Given the description of an element on the screen output the (x, y) to click on. 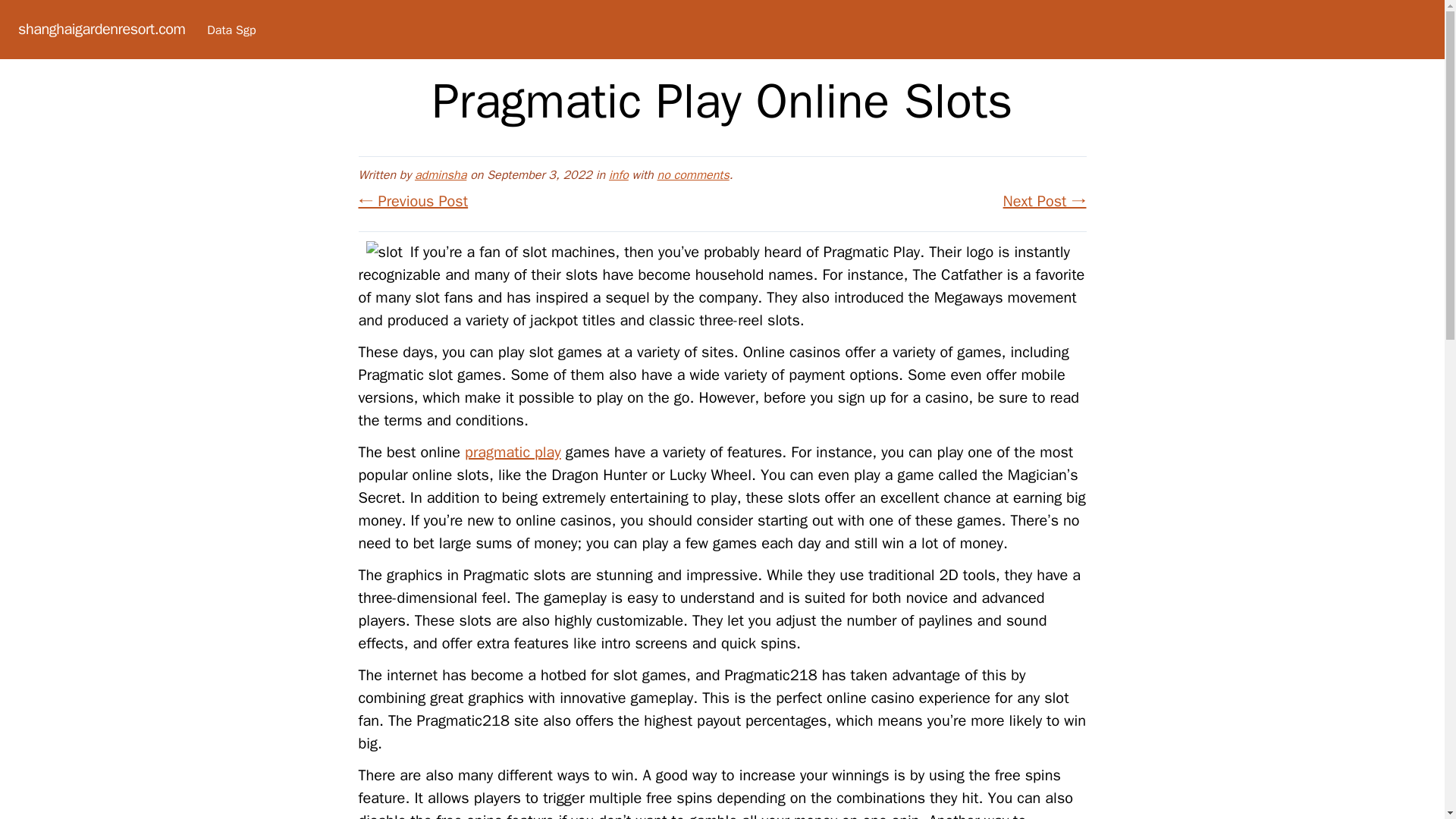
shanghaigardenresort.com (100, 29)
adminsha (439, 174)
pragmatic play (512, 452)
no comments (693, 174)
Data Sgp (231, 30)
info (618, 174)
no comments (693, 174)
